Given the description of an element on the screen output the (x, y) to click on. 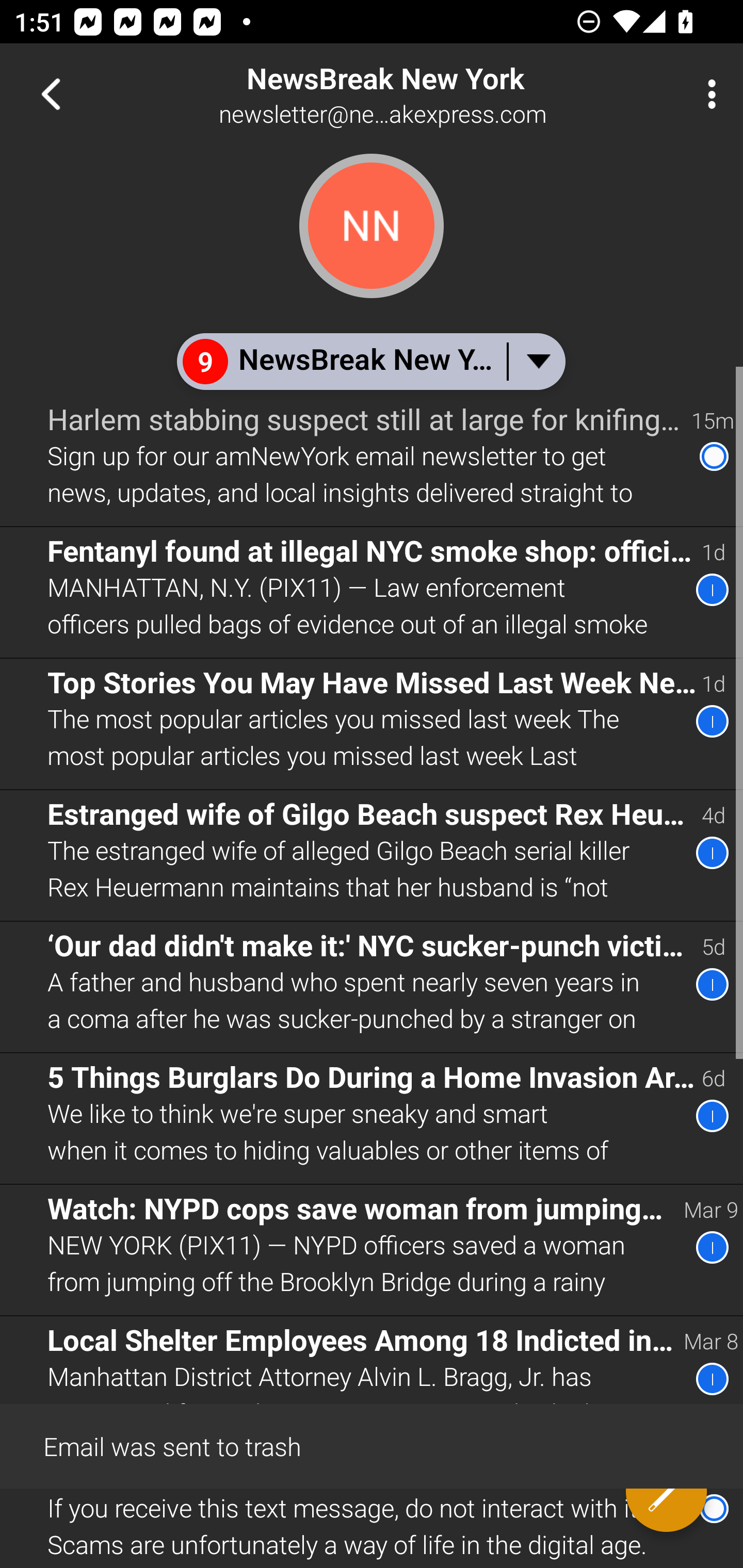
Navigate up (50, 93)
NewsBreak New York newsletter@newsbreakexpress.com (436, 93)
More Options (706, 93)
9 NewsBreak New York & You (370, 361)
Email was sent to trash (371, 1445)
